Given the description of an element on the screen output the (x, y) to click on. 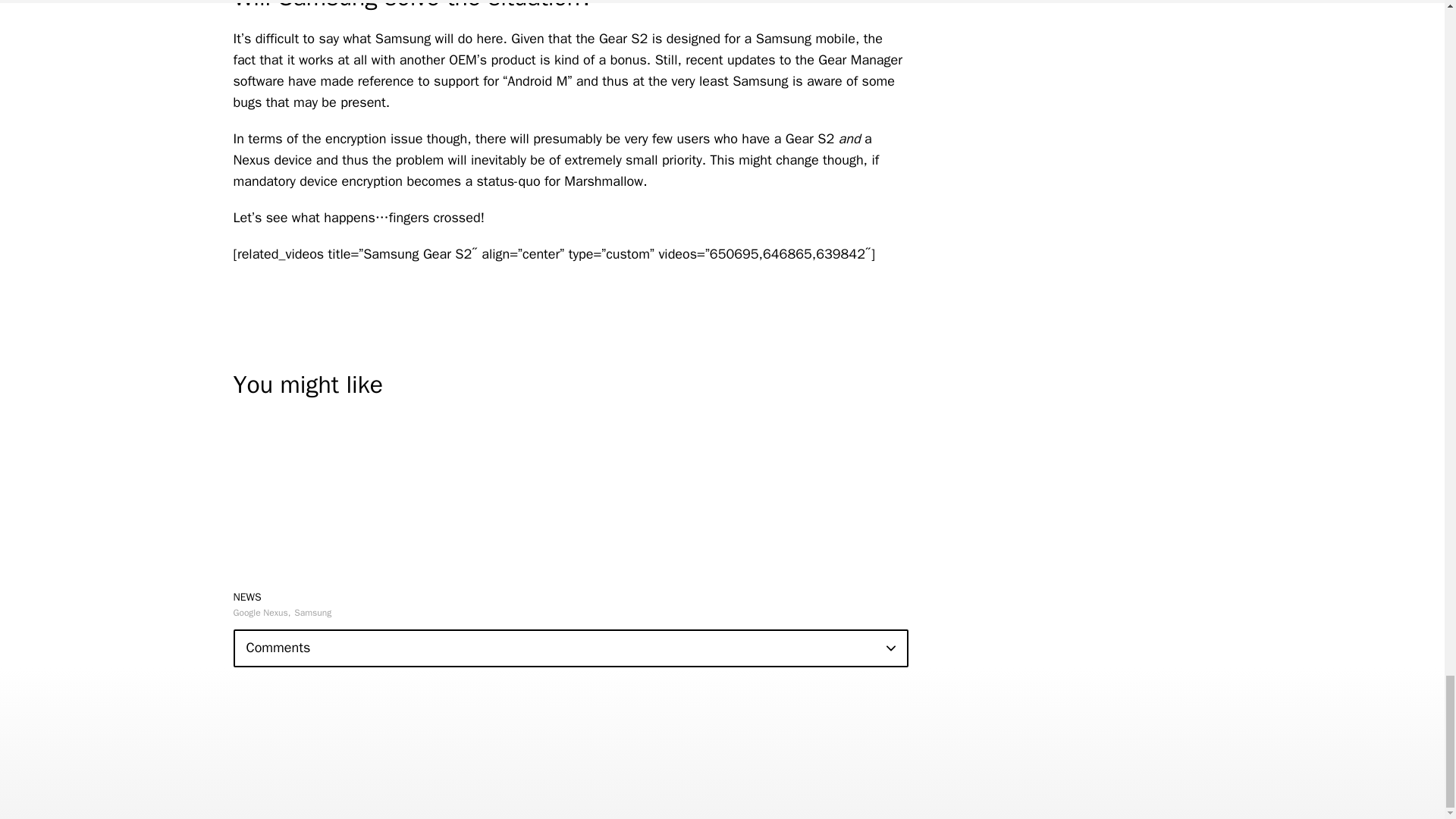
Comments (570, 648)
NEWS (247, 596)
Samsung (312, 612)
Google Nexus (261, 612)
